Given the description of an element on the screen output the (x, y) to click on. 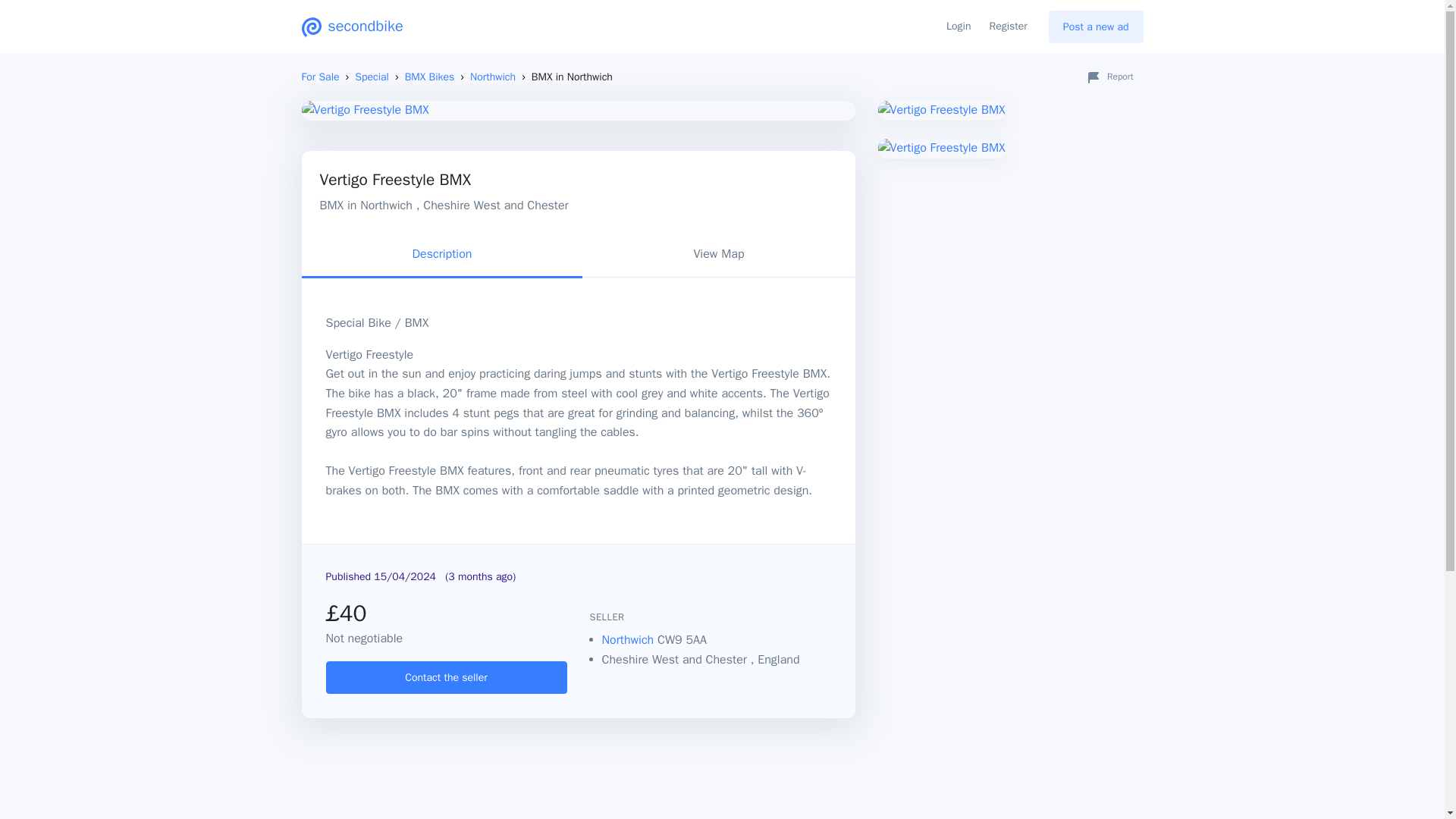
Advertisement (721, 780)
Report (1108, 76)
Vertigo Freestyle BMX (1009, 110)
For Sale (320, 76)
BMX Bikes (429, 76)
View Map (718, 255)
Description (442, 255)
BMX Bikes (429, 76)
Contact the seller (446, 676)
Create an account (446, 676)
BMX Bikes in Northwich (492, 76)
Vertigo Freestyle BMX (1009, 148)
Post a new ad (1095, 26)
Bicycles in Northwich (630, 639)
Vertigo Freestyle BMX (578, 110)
